Given the description of an element on the screen output the (x, y) to click on. 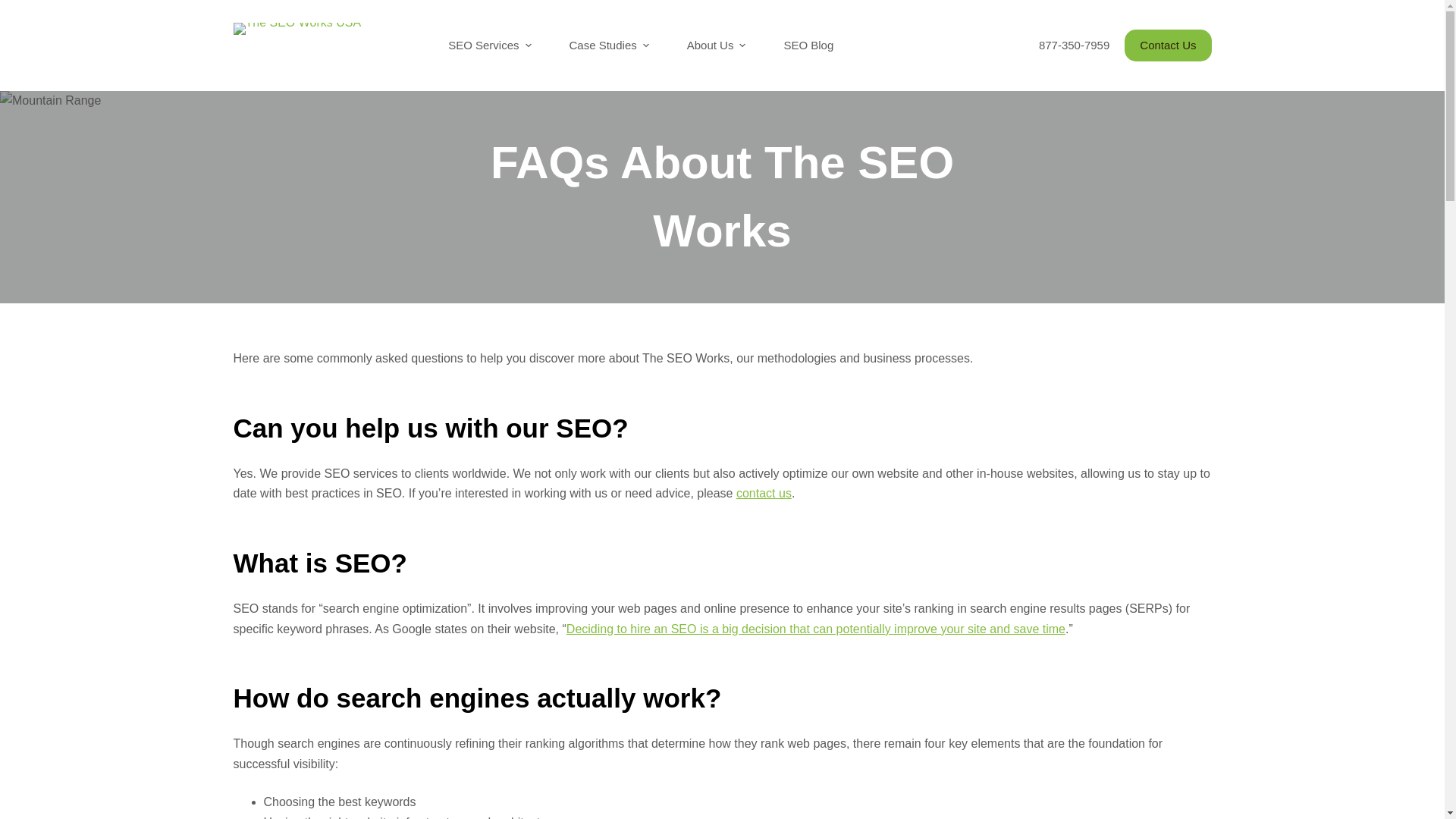
Skip to content (15, 7)
Case Studies (609, 45)
SEO Services (489, 45)
FAQs About The SEO Works (722, 196)
